Given the description of an element on the screen output the (x, y) to click on. 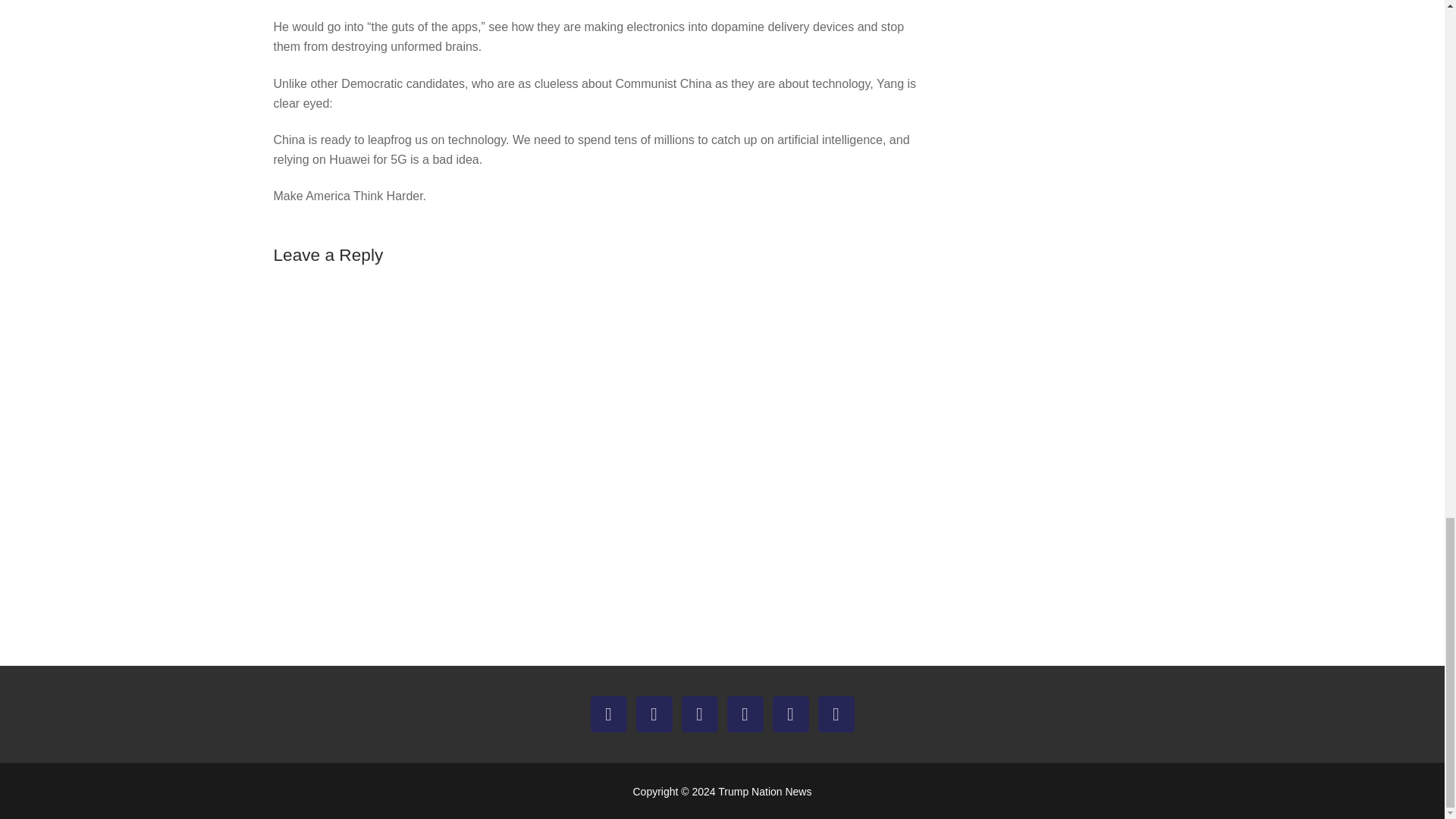
Facebook (607, 714)
Instagram (698, 714)
Twitter (653, 714)
